Given the description of an element on the screen output the (x, y) to click on. 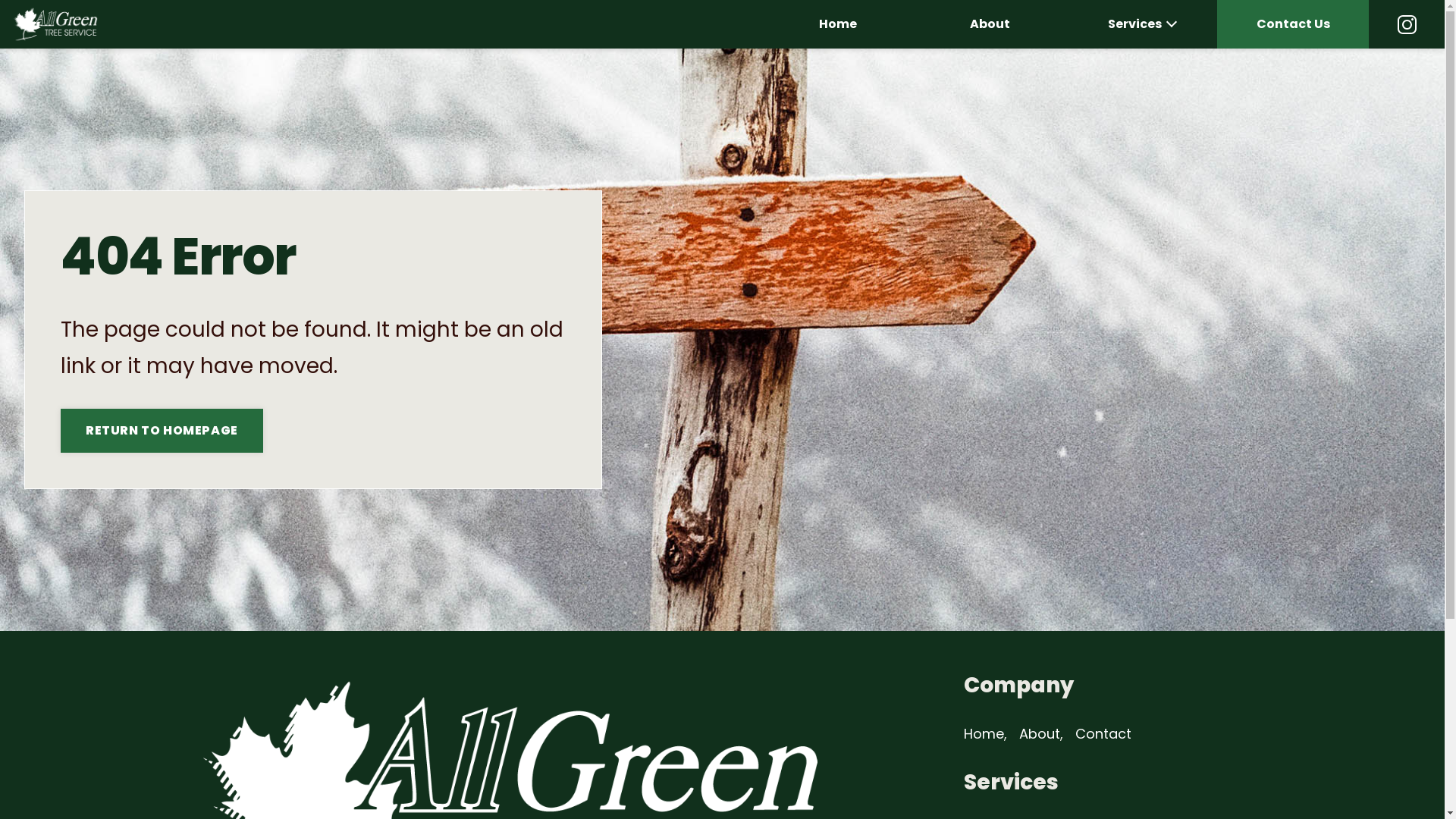
RETURN TO HOMEPAGE Element type: text (161, 430)
About Element type: text (989, 24)
Contact Us Element type: text (1292, 24)
Services Element type: text (1141, 24)
Home Element type: text (837, 24)
Contact Element type: text (1103, 733)
Home Element type: text (983, 733)
About Element type: text (1039, 733)
